Given the description of an element on the screen output the (x, y) to click on. 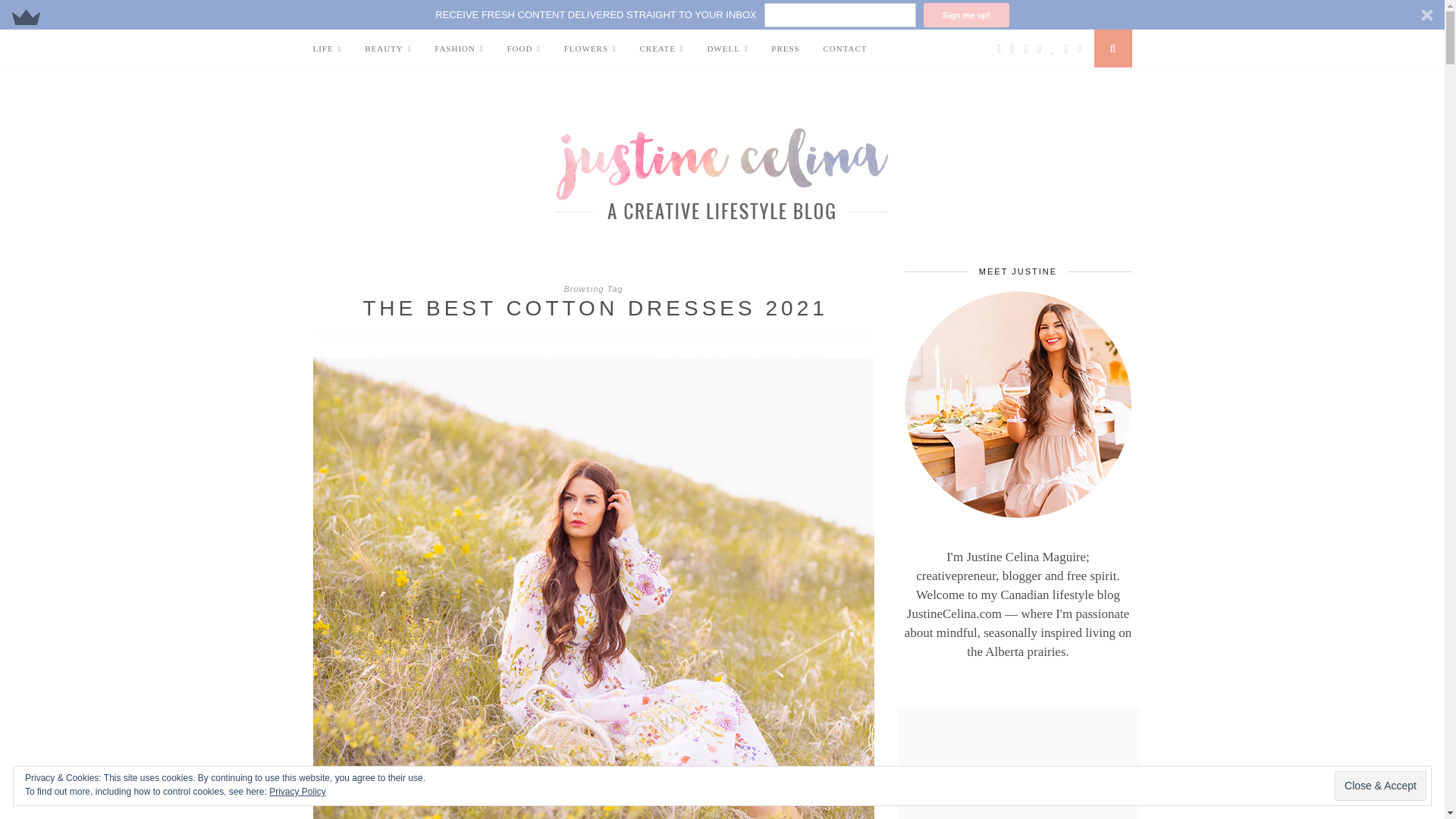
BEAUTY (387, 48)
Sign me up! (966, 15)
FASHION (458, 48)
